Given the description of an element on the screen output the (x, y) to click on. 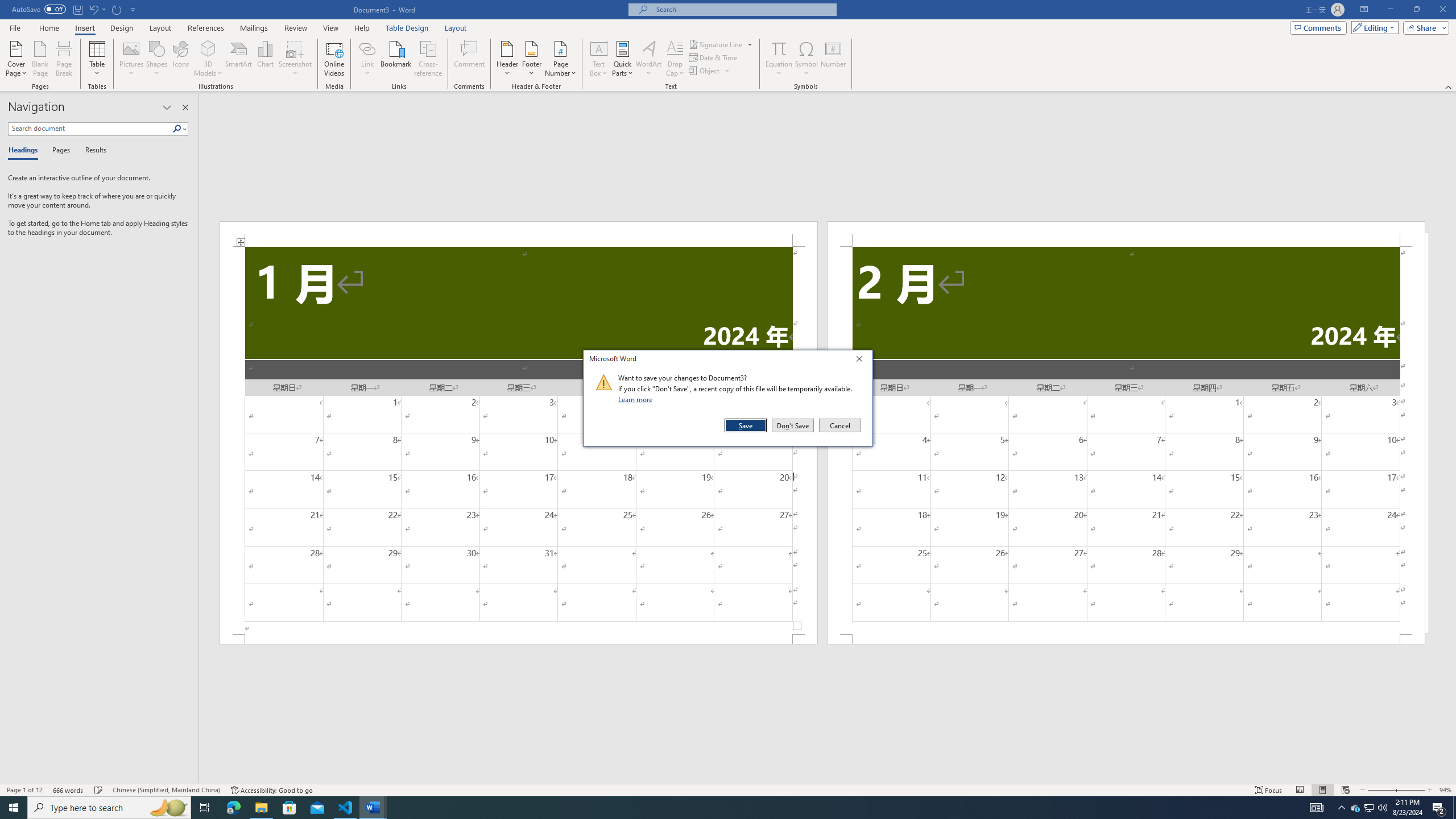
Equation (778, 48)
Header -Section 2- (1126, 233)
Object... (705, 69)
Cross-reference... (428, 58)
Q2790: 100% (1382, 807)
Header -Section 1- (518, 233)
Table Design (407, 28)
Shapes (156, 58)
